Given the description of an element on the screen output the (x, y) to click on. 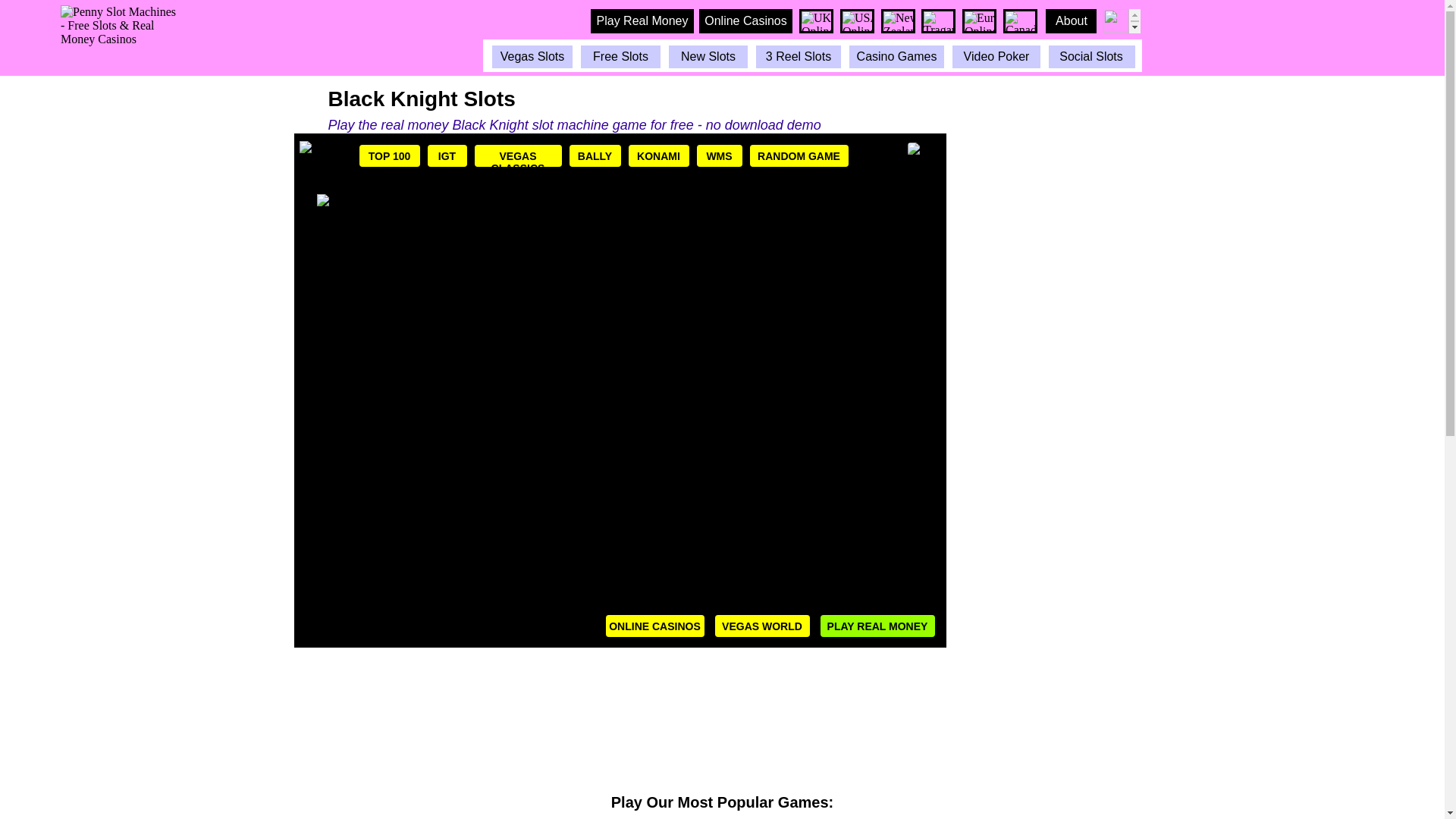
Casino Games (896, 56)
Social Slots (1090, 56)
3 Reel Slots (798, 56)
New Online Slots (708, 56)
About (1071, 20)
New Slots (708, 56)
Video Poker (996, 56)
Free Slots (619, 56)
Vegas Slots (532, 56)
Vegas Slots (532, 56)
Casino Games (896, 56)
